Given the description of an element on the screen output the (x, y) to click on. 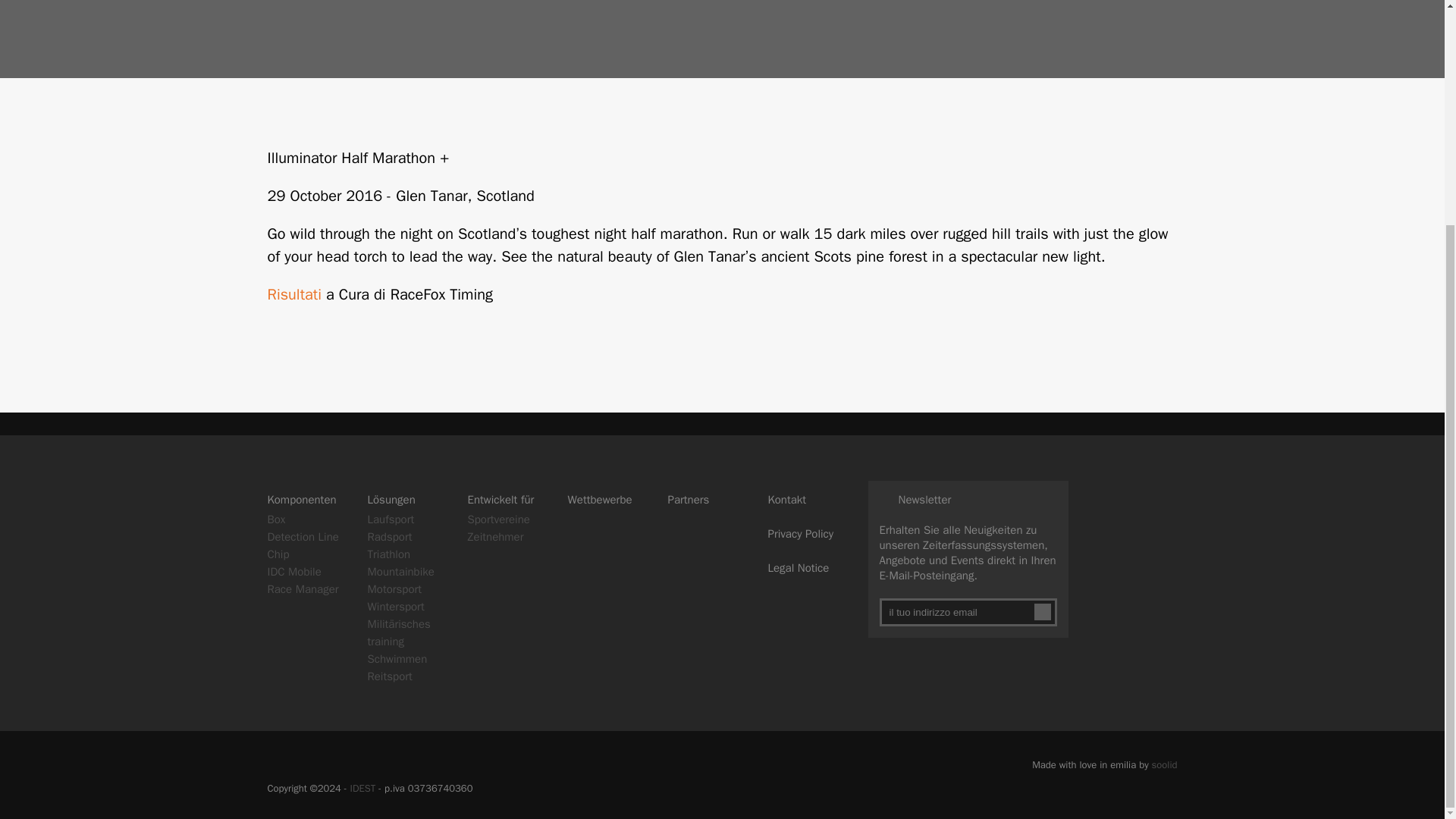
Chip (277, 554)
Risultati (293, 294)
Wettbewerbe (599, 499)
Reitsport (389, 676)
IDC Mobile (293, 571)
Laufsport (389, 519)
Wintersport (394, 606)
Mountainbike (399, 571)
Detection Line (301, 536)
Zeitnehmer (494, 536)
